Given the description of an element on the screen output the (x, y) to click on. 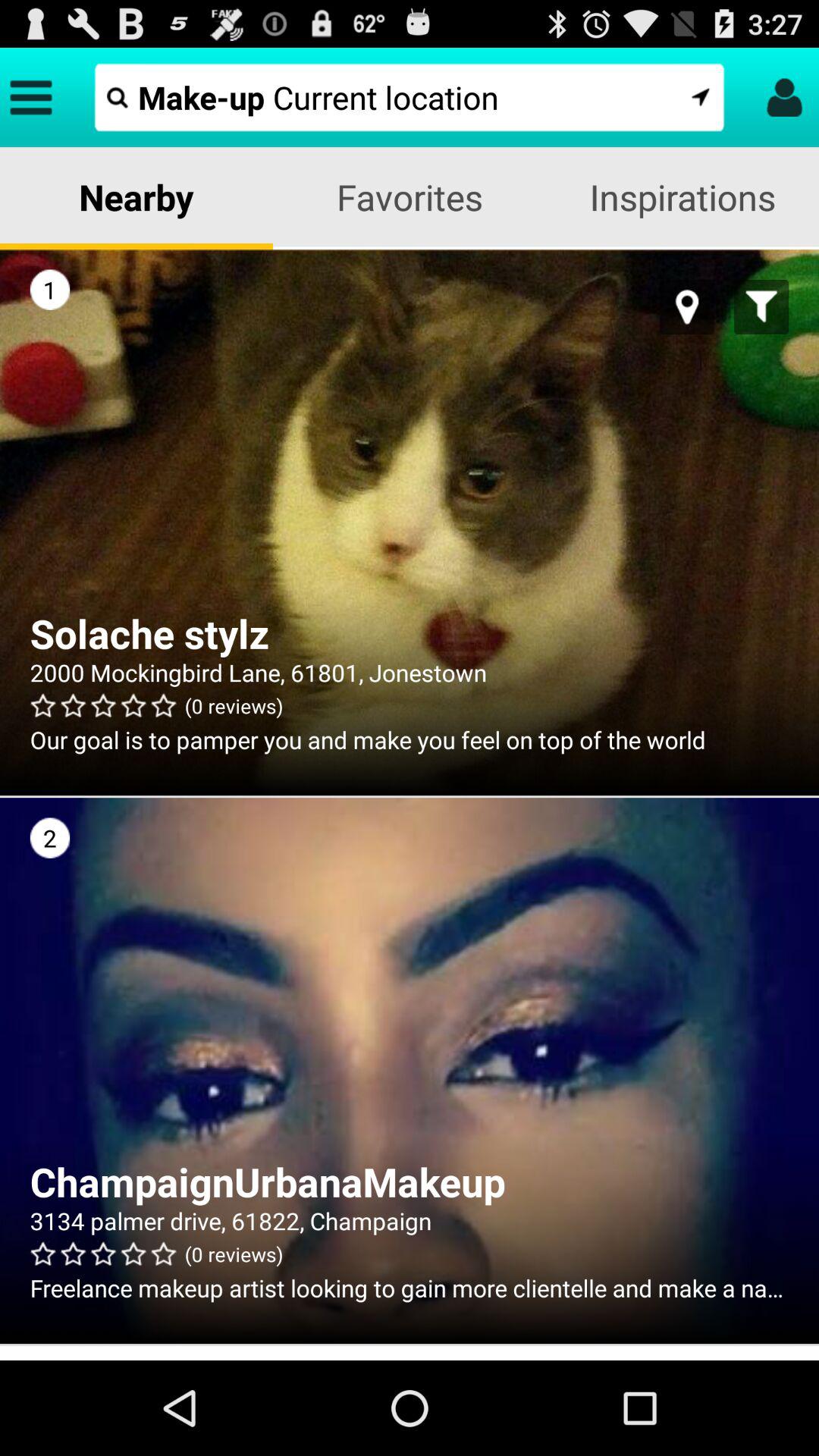
press the app to the left of the favorites app (136, 196)
